Given the description of an element on the screen output the (x, y) to click on. 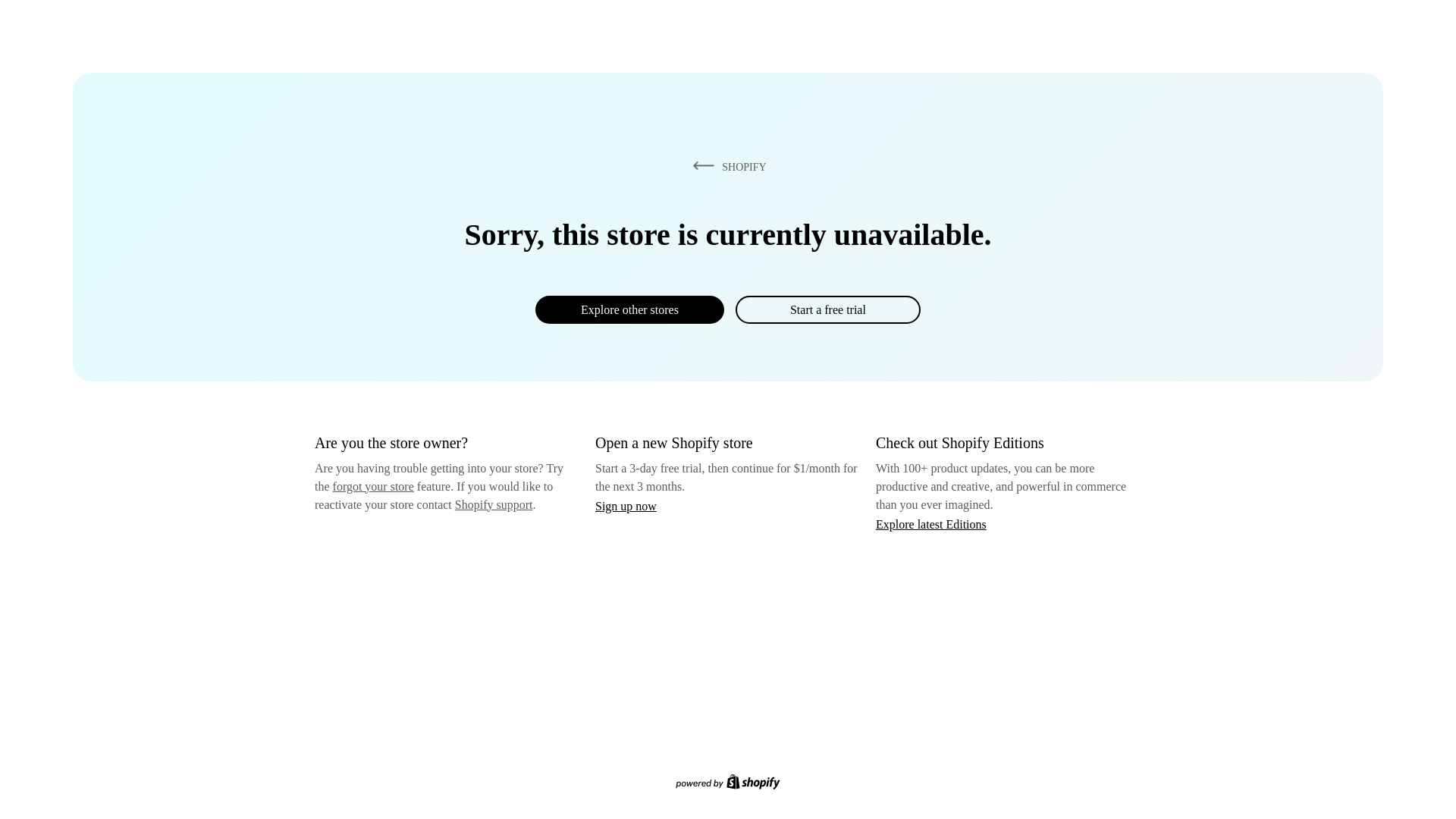
Explore latest Editions (931, 523)
forgot your store (373, 486)
SHOPIFY (726, 166)
Sign up now (625, 505)
Start a free trial (827, 309)
Shopify support (493, 504)
Explore other stores (629, 309)
